Given the description of an element on the screen output the (x, y) to click on. 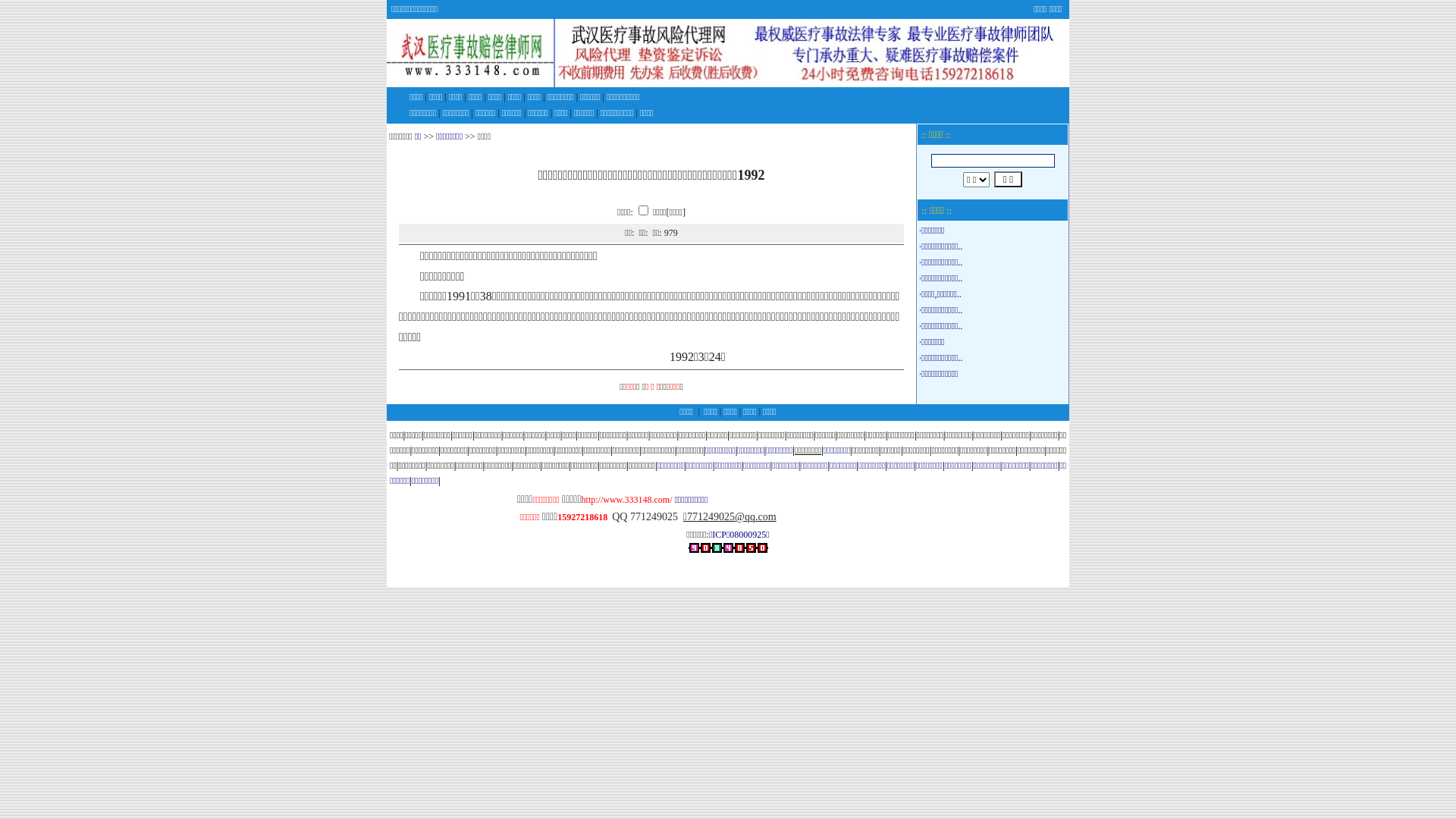
on Element type: text (643, 209)
